Given the description of an element on the screen output the (x, y) to click on. 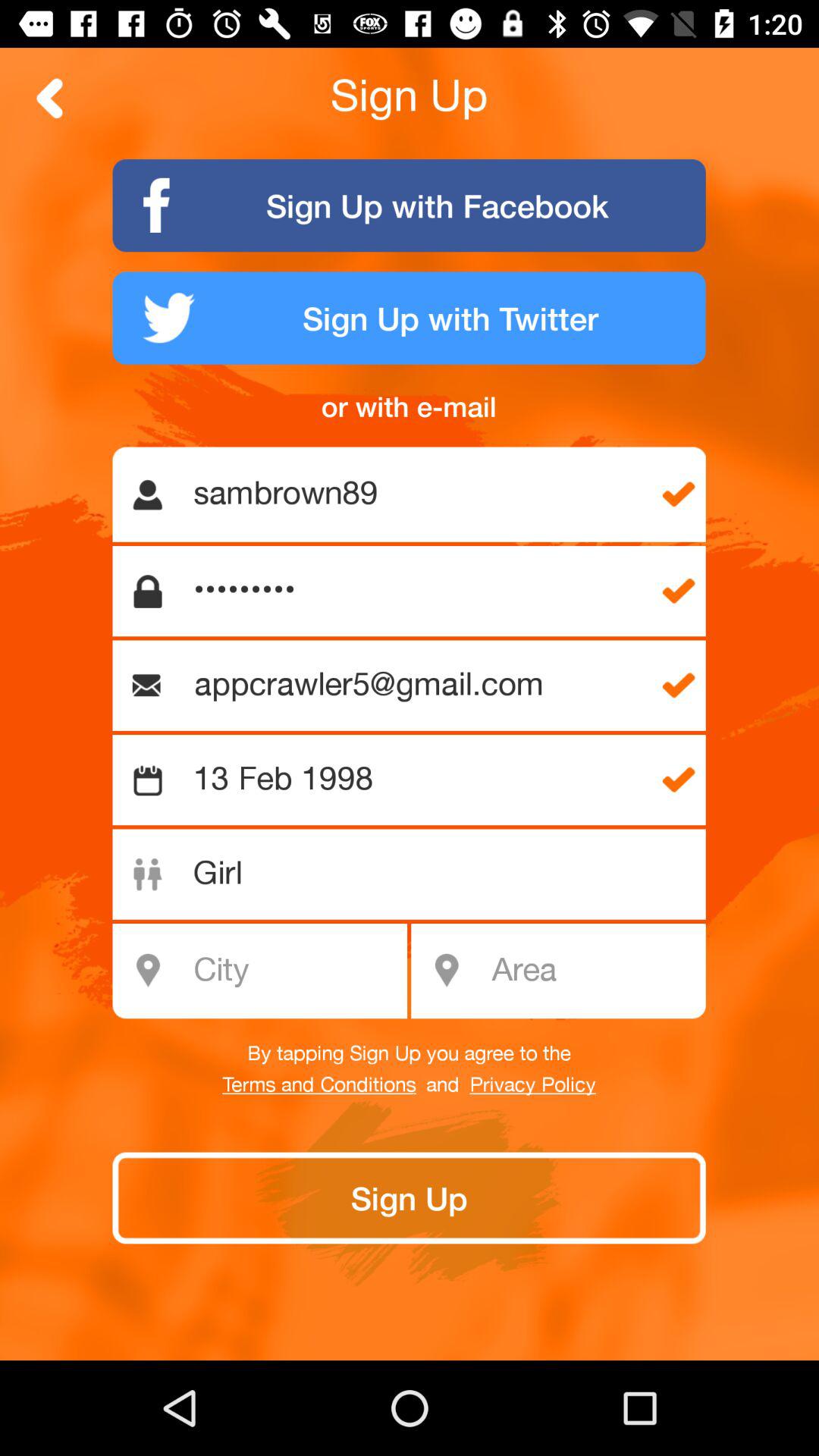
scroll to the privacy policy item (532, 1085)
